Given the description of an element on the screen output the (x, y) to click on. 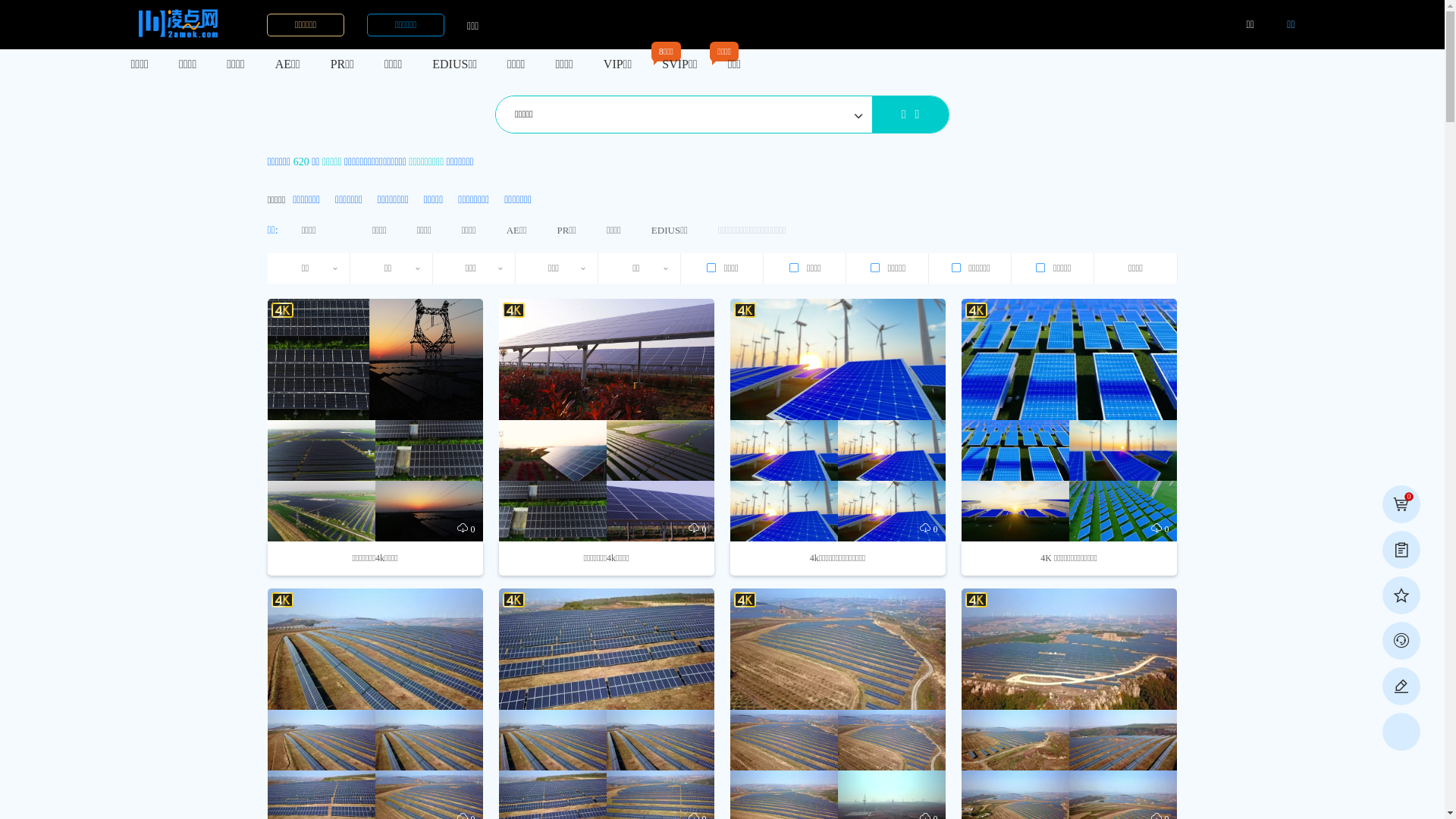
0 Element type: text (1401, 504)
